Given the description of an element on the screen output the (x, y) to click on. 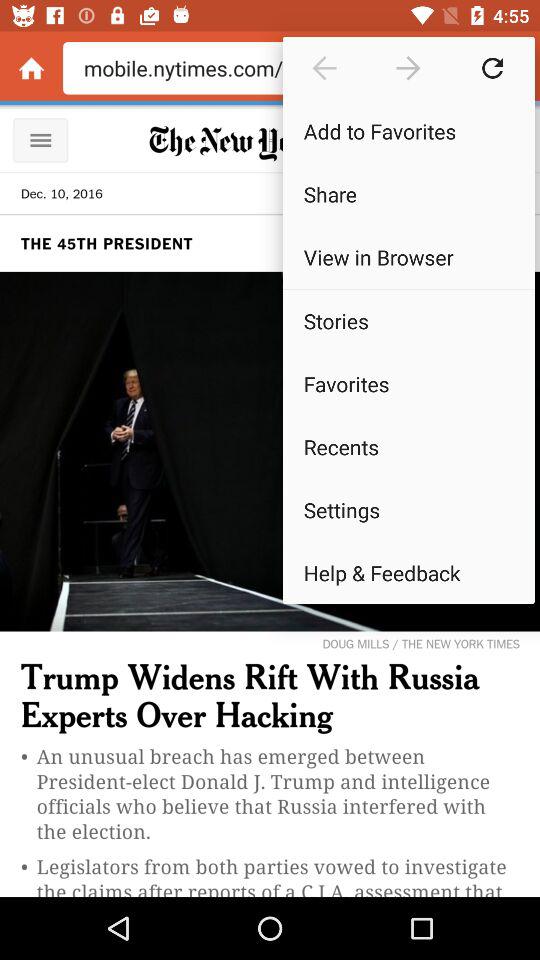
jump to the recents (408, 446)
